Given the description of an element on the screen output the (x, y) to click on. 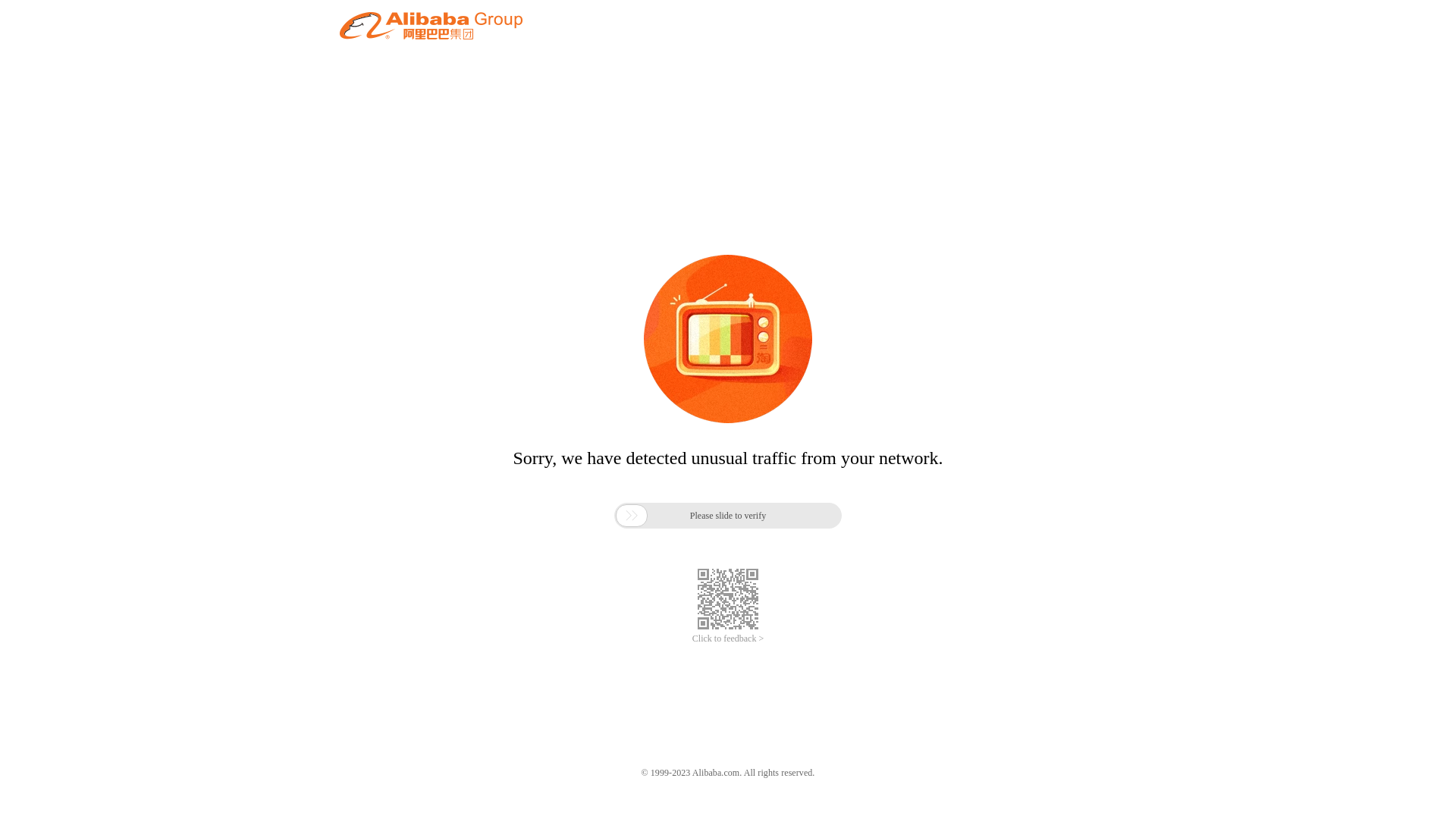
Click to feedback > Element type: text (727, 638)
